Given the description of an element on the screen output the (x, y) to click on. 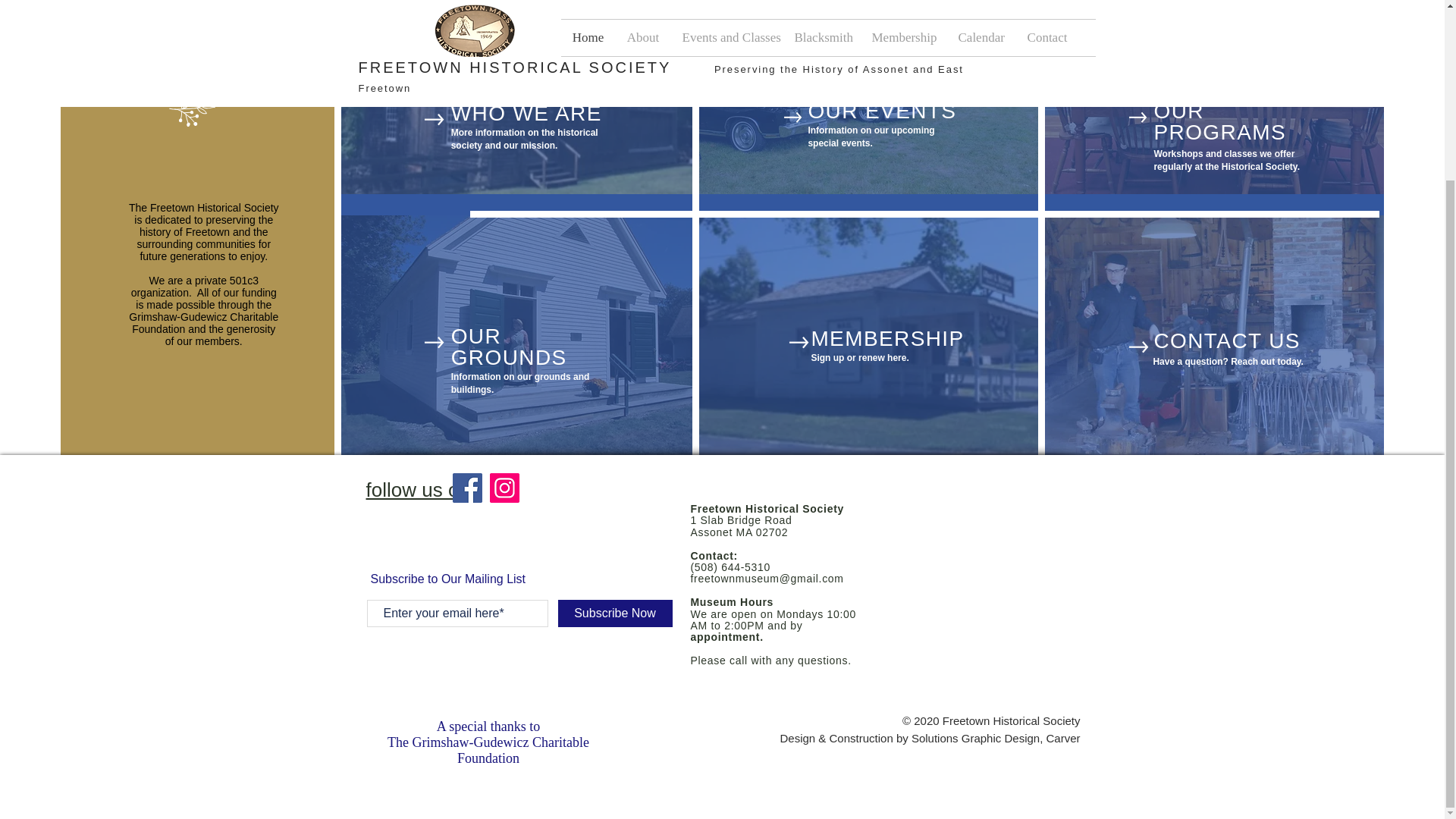
CONTACT US (1226, 340)
Google Maps (980, 552)
OUR PROGRAMS (1219, 121)
MEMBERSHIP (886, 338)
follow us on  (420, 489)
Facebook Like (461, 543)
Subscribe Now (614, 613)
WHO WE ARE (526, 113)
OUR GROUNDS (509, 346)
OUR EVENTS (882, 110)
